Given the description of an element on the screen output the (x, y) to click on. 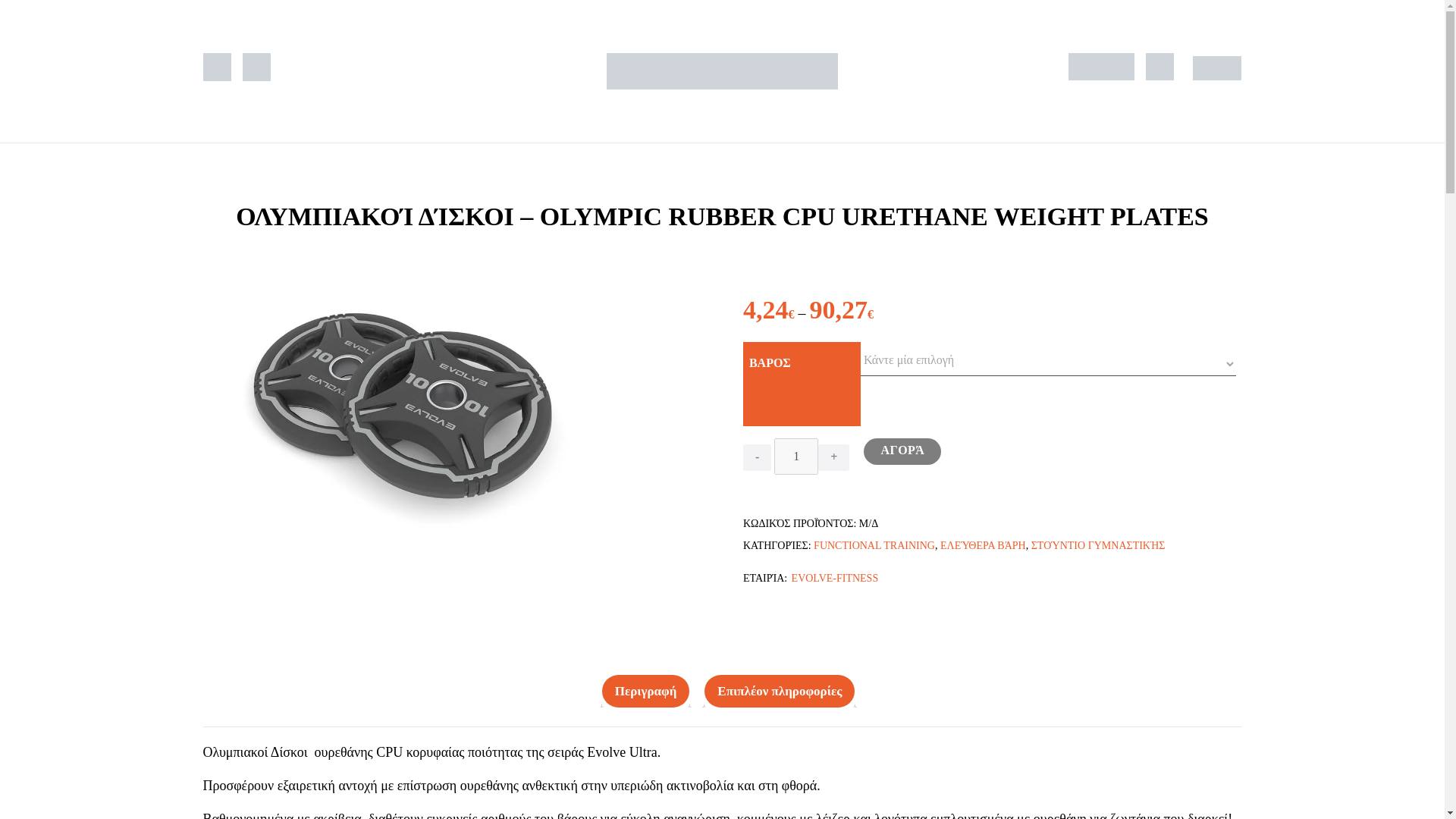
10-1.jpg (421, 412)
- (756, 457)
Qty (796, 456)
1 (796, 456)
